Given the description of an element on the screen output the (x, y) to click on. 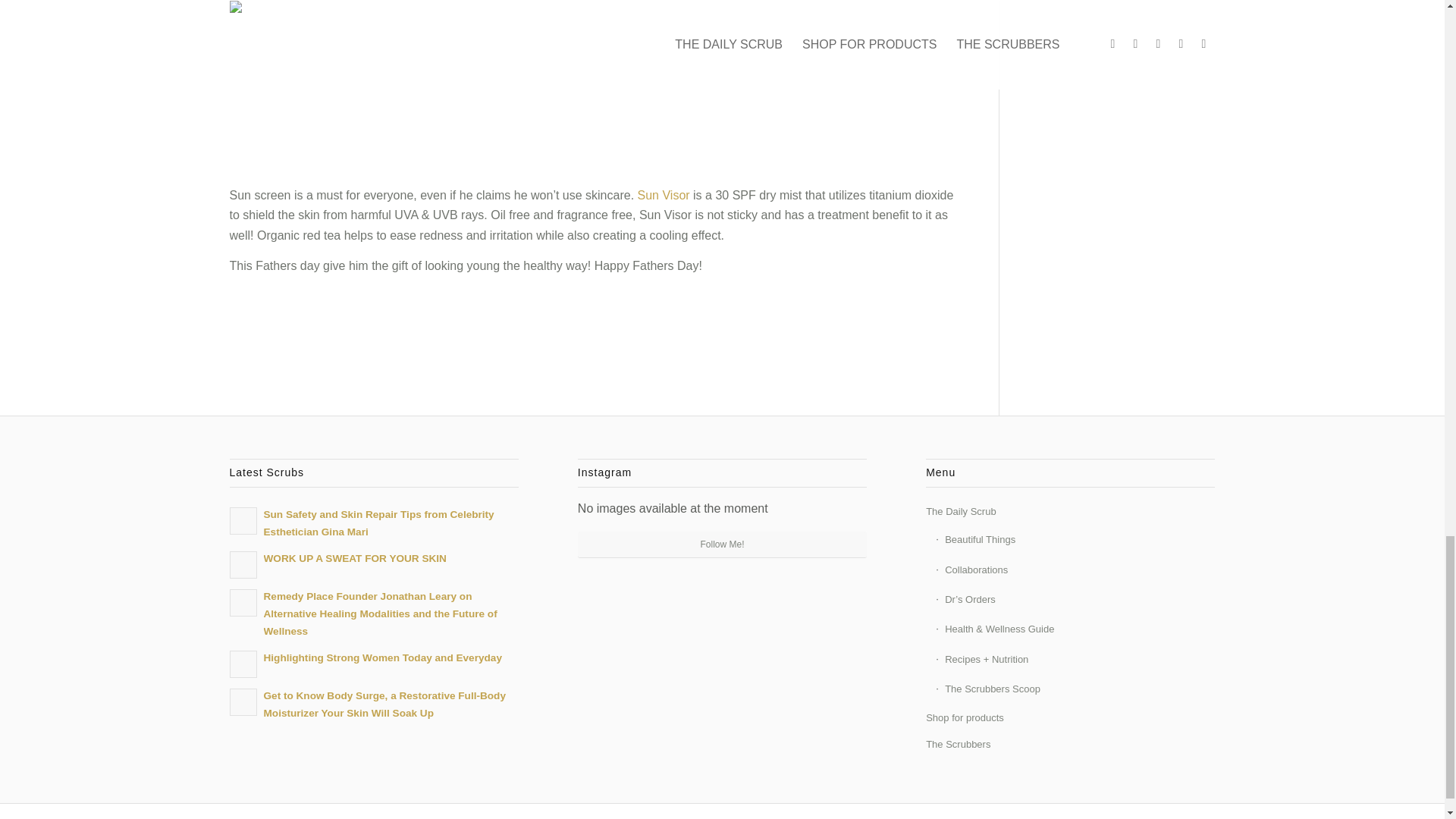
Highlighting Strong Women Today and Everyday (373, 662)
Sun Visor (663, 195)
Twitter (1112, 815)
WORK UP A SWEAT FOR YOUR SKIN (373, 562)
WORK UP A SWEAT FOR YOUR SKIN (373, 562)
Facebook (1135, 815)
